Given the description of an element on the screen output the (x, y) to click on. 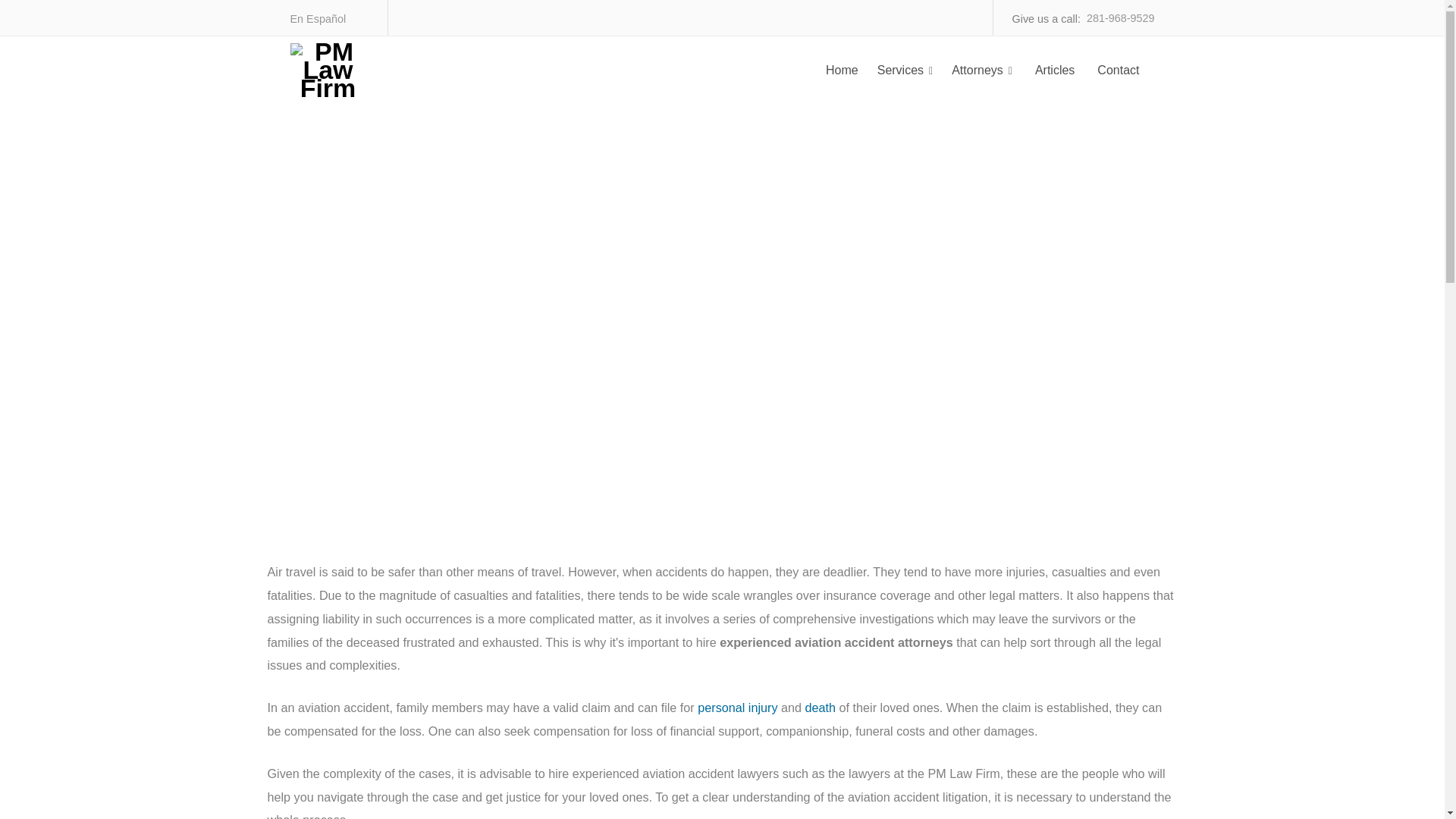
Spanish (317, 18)
281-968-9529 (1120, 17)
